Given the description of an element on the screen output the (x, y) to click on. 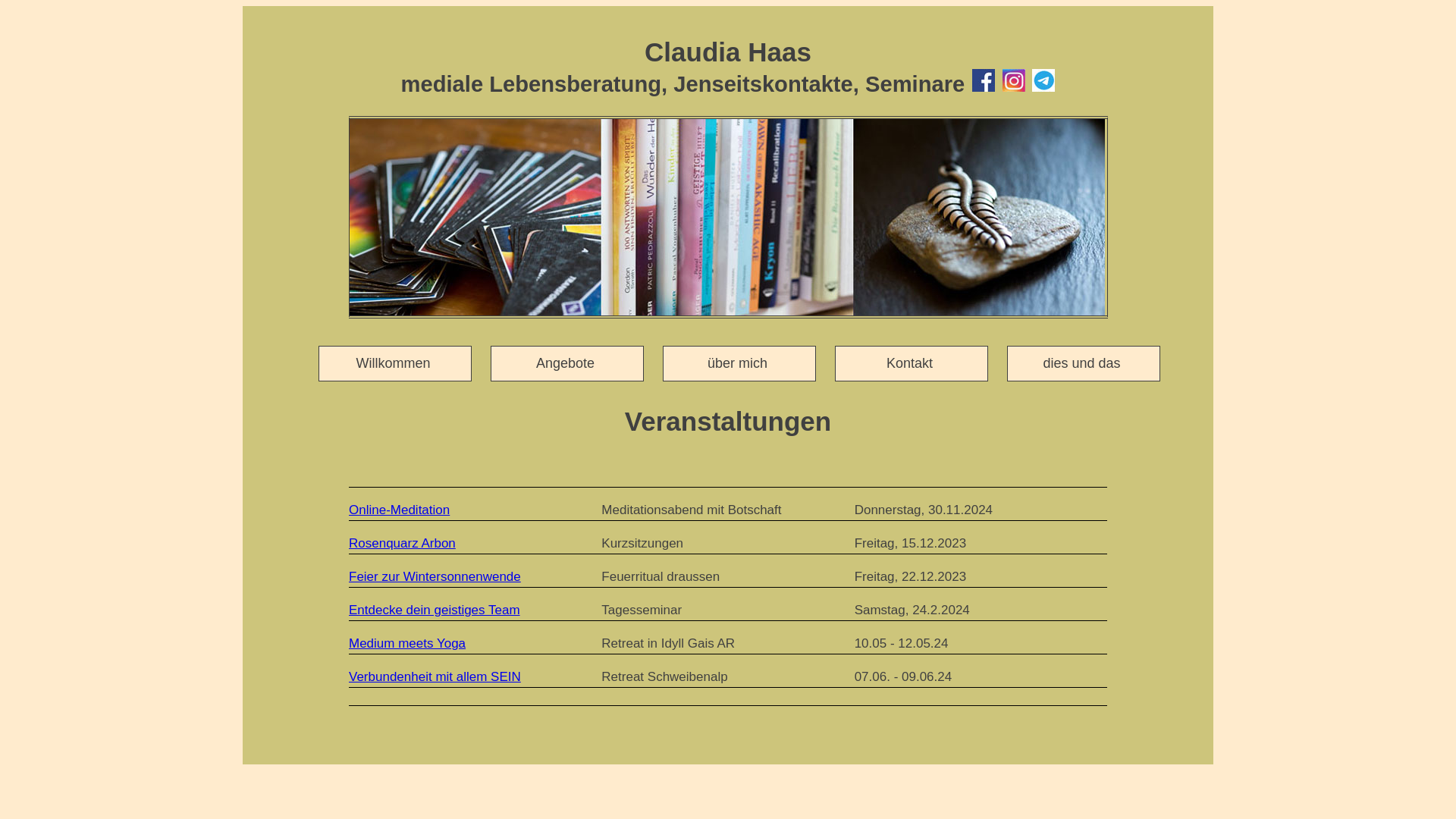
Online-Meditation Element type: text (398, 509)
Rosenquarz Arbon Element type: text (401, 543)
Willkommen  Element type: text (394, 363)
Kontakt  Element type: text (911, 363)
Angebote  Element type: text (566, 363)
Medium meets Yoga Element type: text (406, 643)
Verbundenheit mit allem SEIN Element type: text (434, 676)
Feier zur Wintersonnenwende Element type: text (434, 576)
dies und das  Element type: text (1083, 363)
Entdecke dein geistiges Team Element type: text (434, 609)
